Given the description of an element on the screen output the (x, y) to click on. 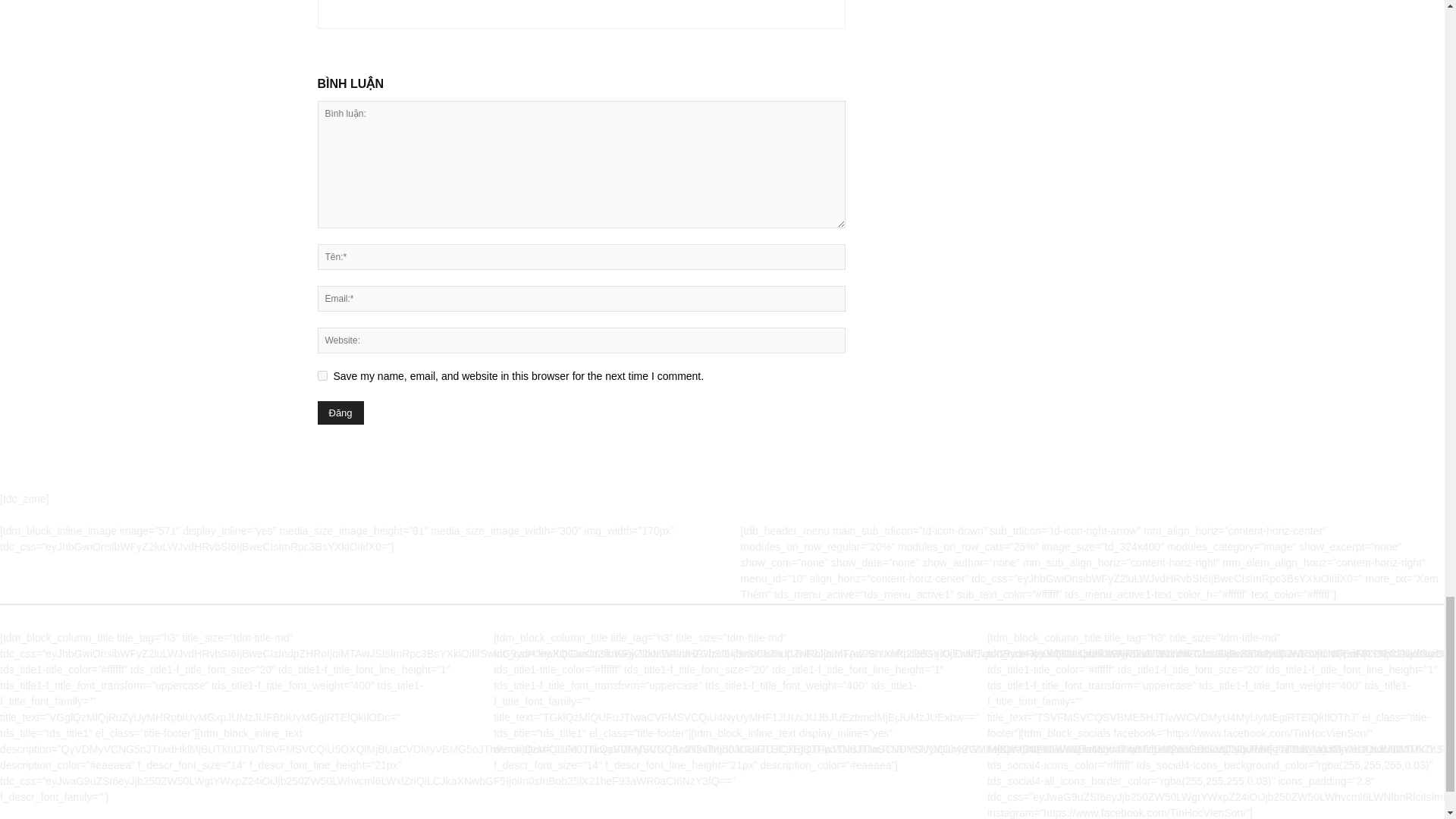
yes (321, 375)
